Given the description of an element on the screen output the (x, y) to click on. 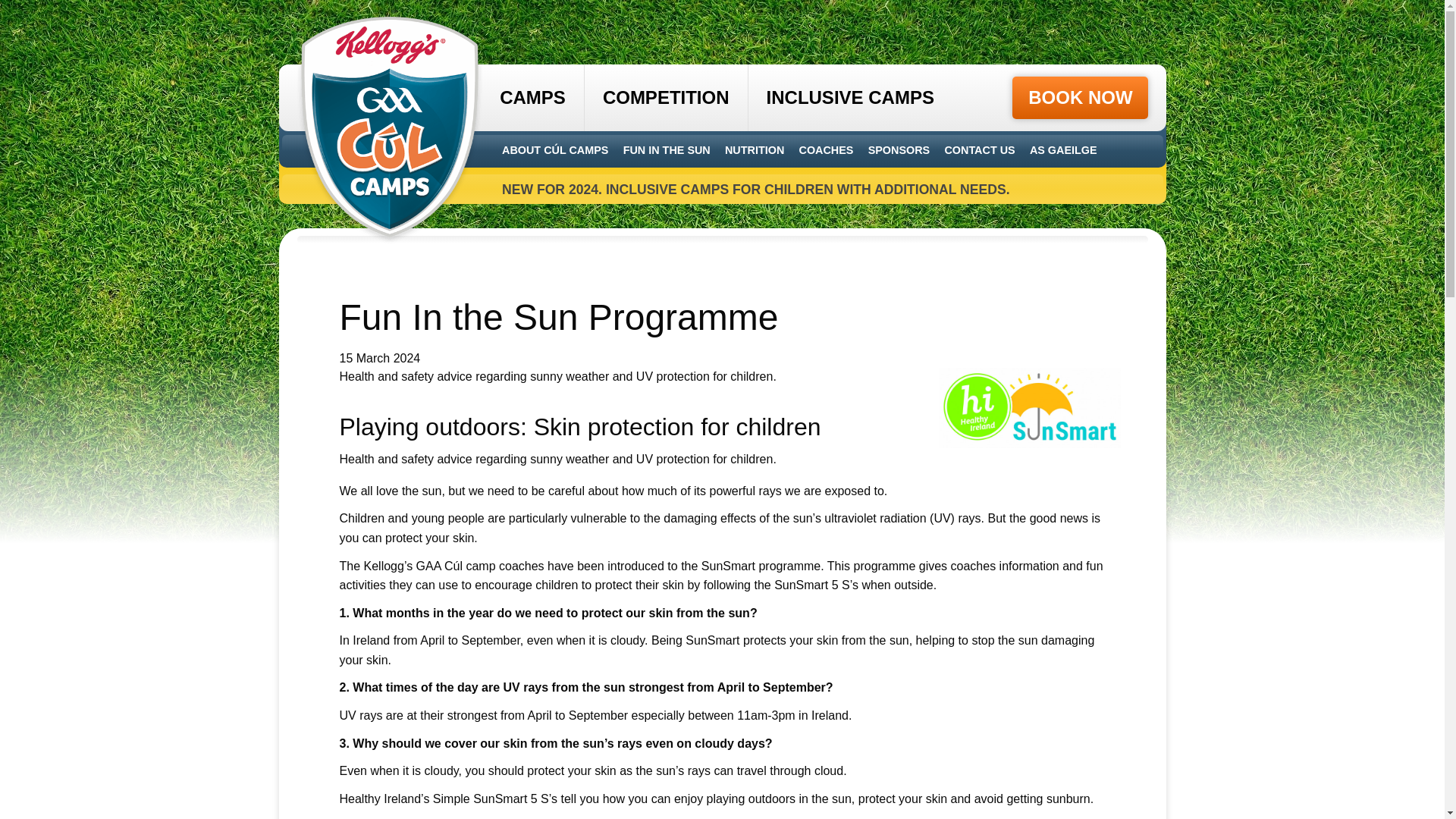
CONTACT US (978, 150)
SPONSORS (898, 150)
INCLUSIVE CAMPS (850, 97)
NUTRITION (754, 150)
FUN IN THE SUN (666, 150)
CAMPS (541, 97)
COACHES (826, 150)
COMPETITION (666, 97)
Information for Coaches and Coaching resources (826, 150)
AS GAEILGE (1063, 150)
